Given the description of an element on the screen output the (x, y) to click on. 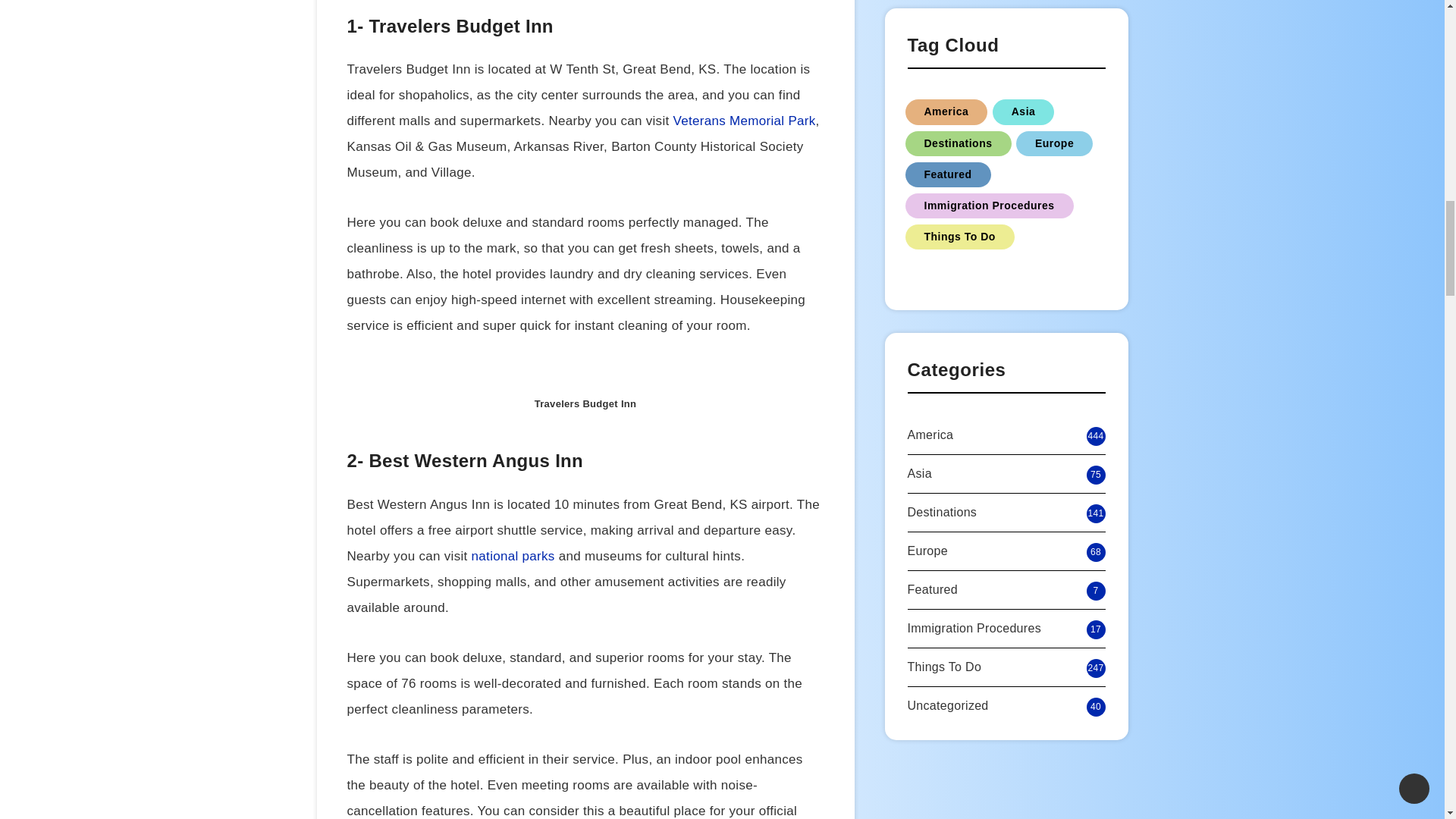
great bend weather (656, 69)
Veterans Memorial Park (743, 120)
national parks (512, 555)
